Given the description of an element on the screen output the (x, y) to click on. 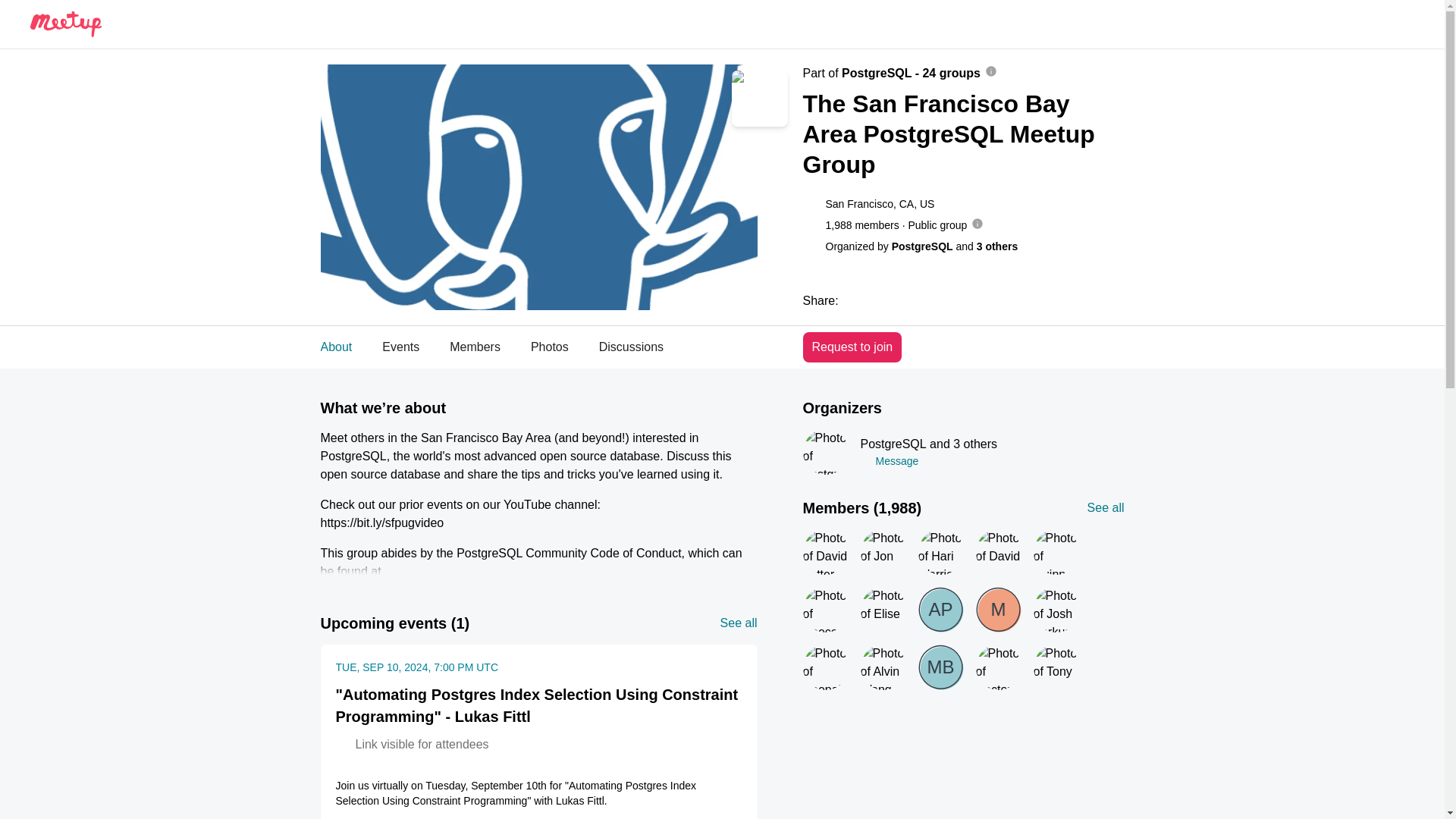
See all (1105, 507)
Request to join (851, 347)
San Francisco, CA, US (879, 203)
About (561, 347)
Email (336, 347)
Events (948, 300)
AP (400, 347)
Message (939, 609)
